Given the description of an element on the screen output the (x, y) to click on. 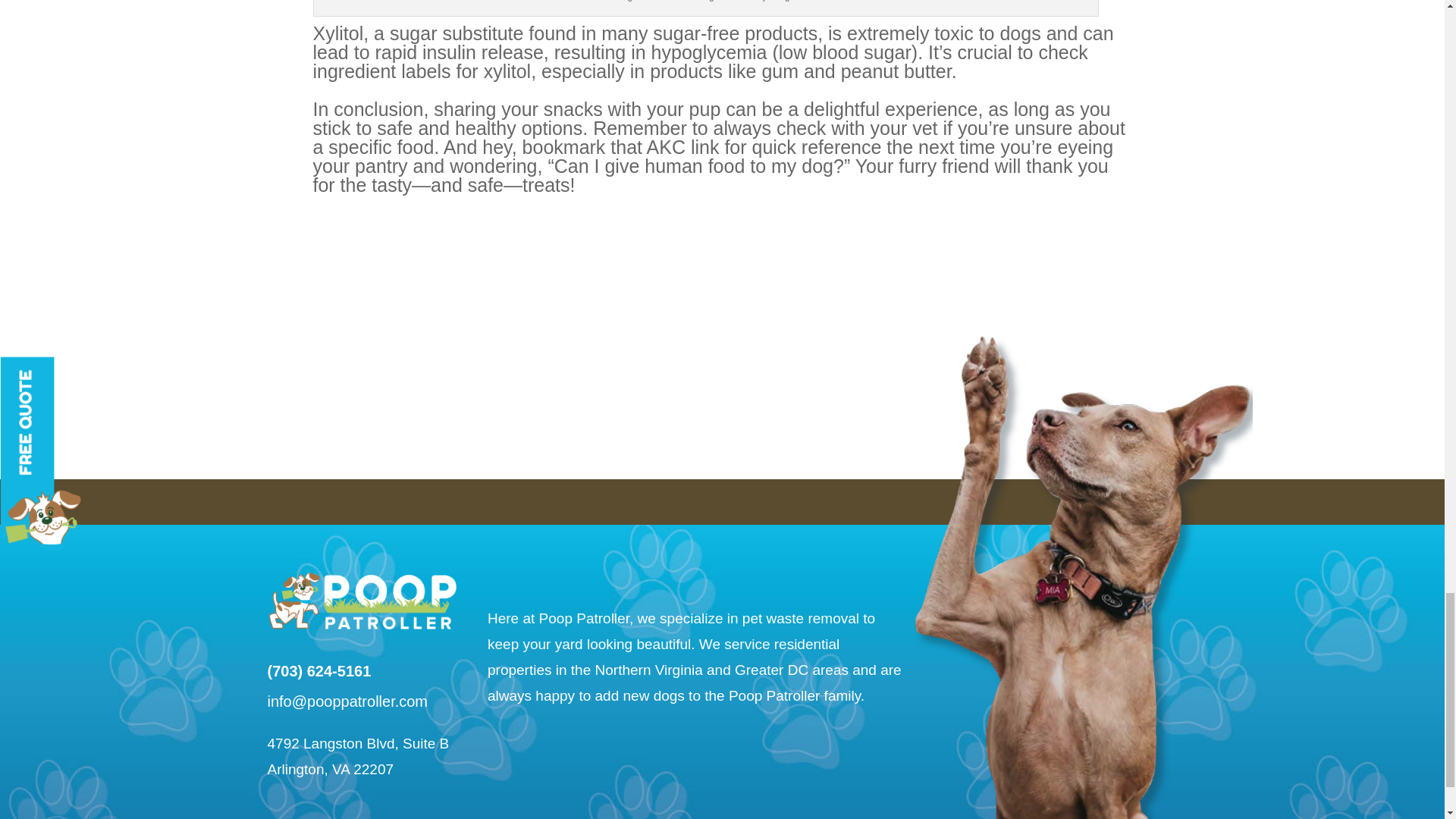
footer-logo (361, 599)
